Given the description of an element on the screen output the (x, y) to click on. 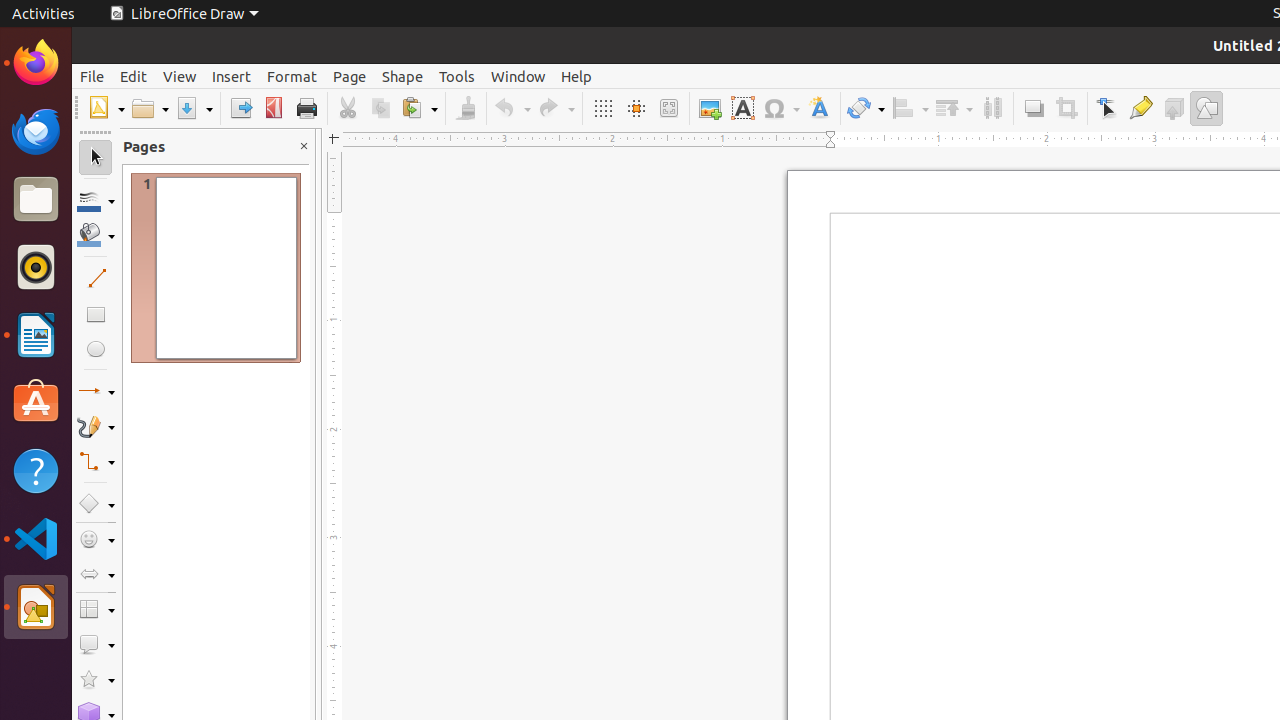
Image Element type: push-button (709, 108)
Save Element type: push-button (194, 108)
Symbol Element type: push-button (781, 108)
File Element type: menu (92, 76)
Redo Element type: push-button (556, 108)
